Given the description of an element on the screen output the (x, y) to click on. 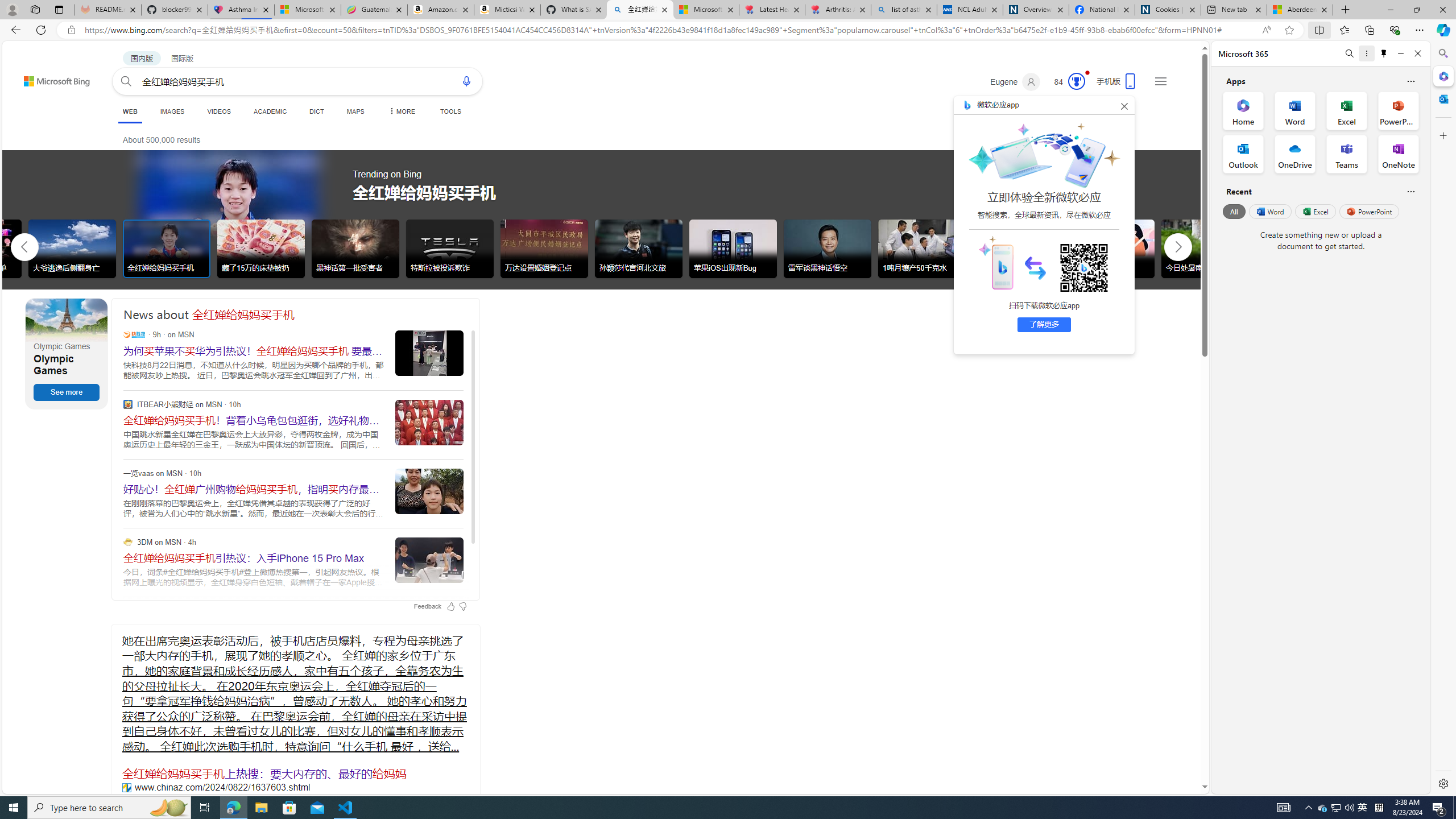
AutomationID: rh_meter (1076, 80)
DICT (316, 111)
www.chinaz.com/2024/0822/1637603.shtml (126, 786)
